Given the description of an element on the screen output the (x, y) to click on. 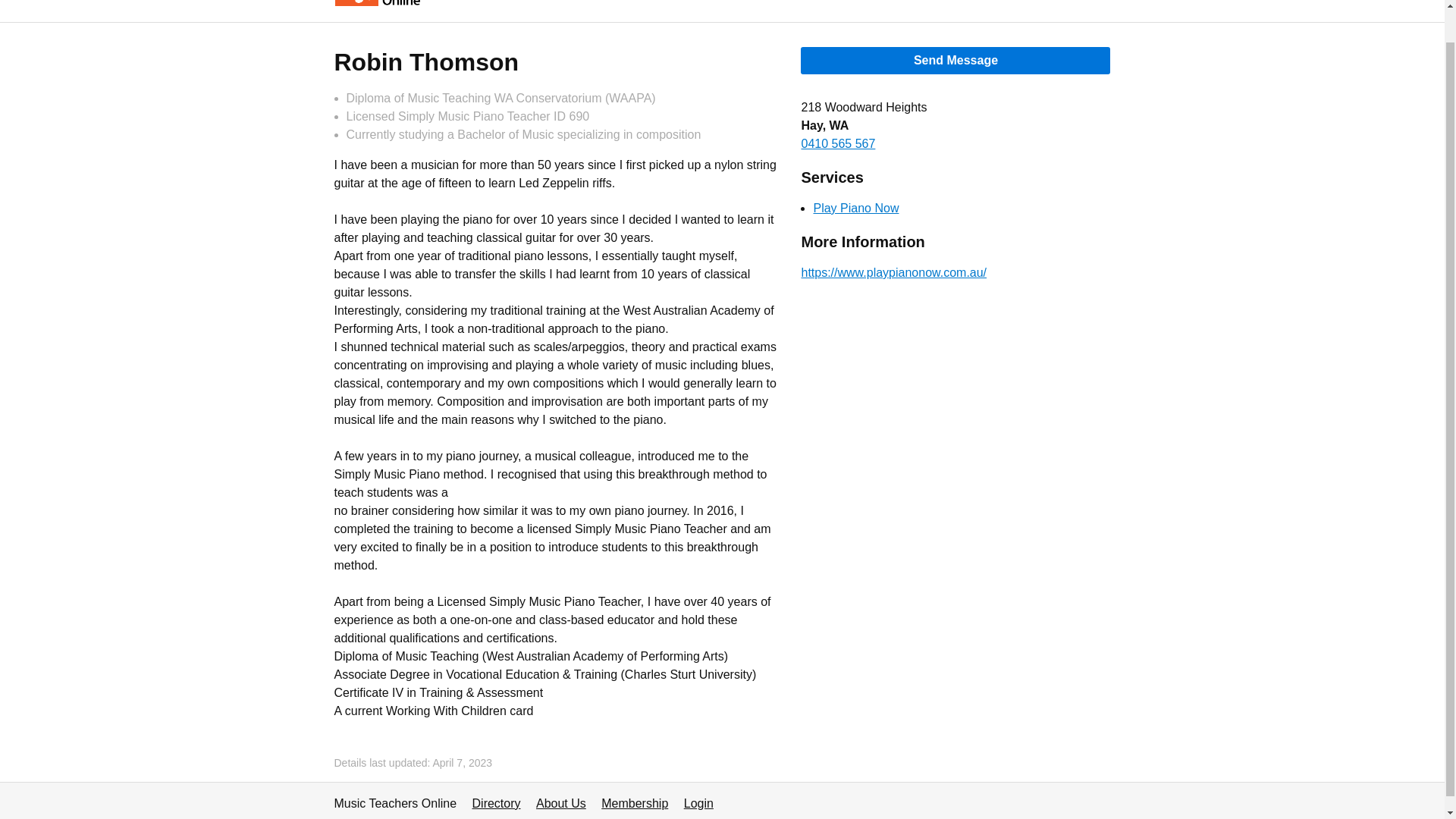
Membership (634, 802)
0410 565 567 (837, 143)
Send Message (954, 60)
Directory (496, 802)
Login (1094, 3)
Login (698, 802)
About Us (560, 802)
Play Piano Now (855, 207)
Membership (1020, 3)
